Given the description of an element on the screen output the (x, y) to click on. 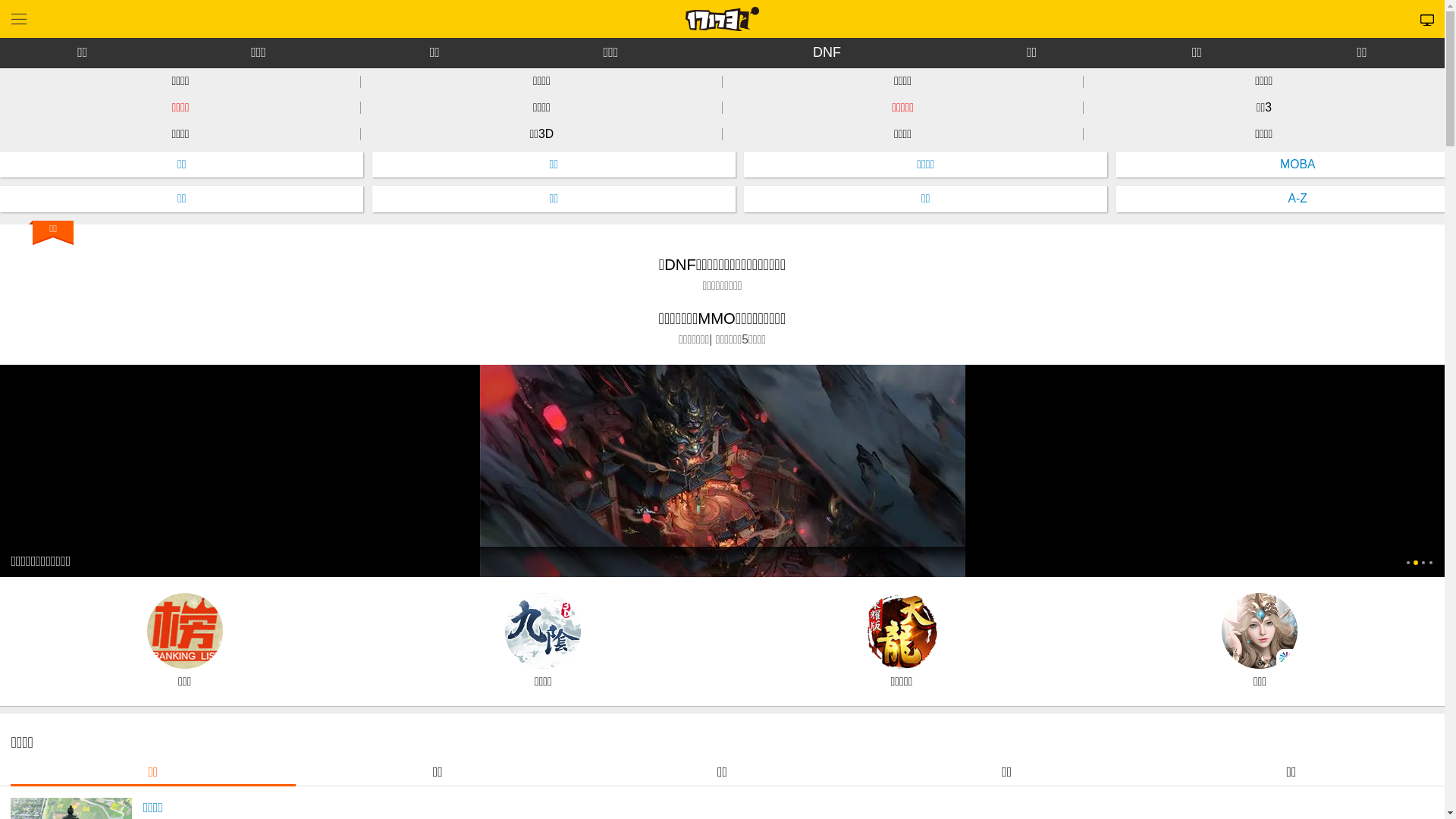
DNF Element type: text (826, 52)
